Given the description of an element on the screen output the (x, y) to click on. 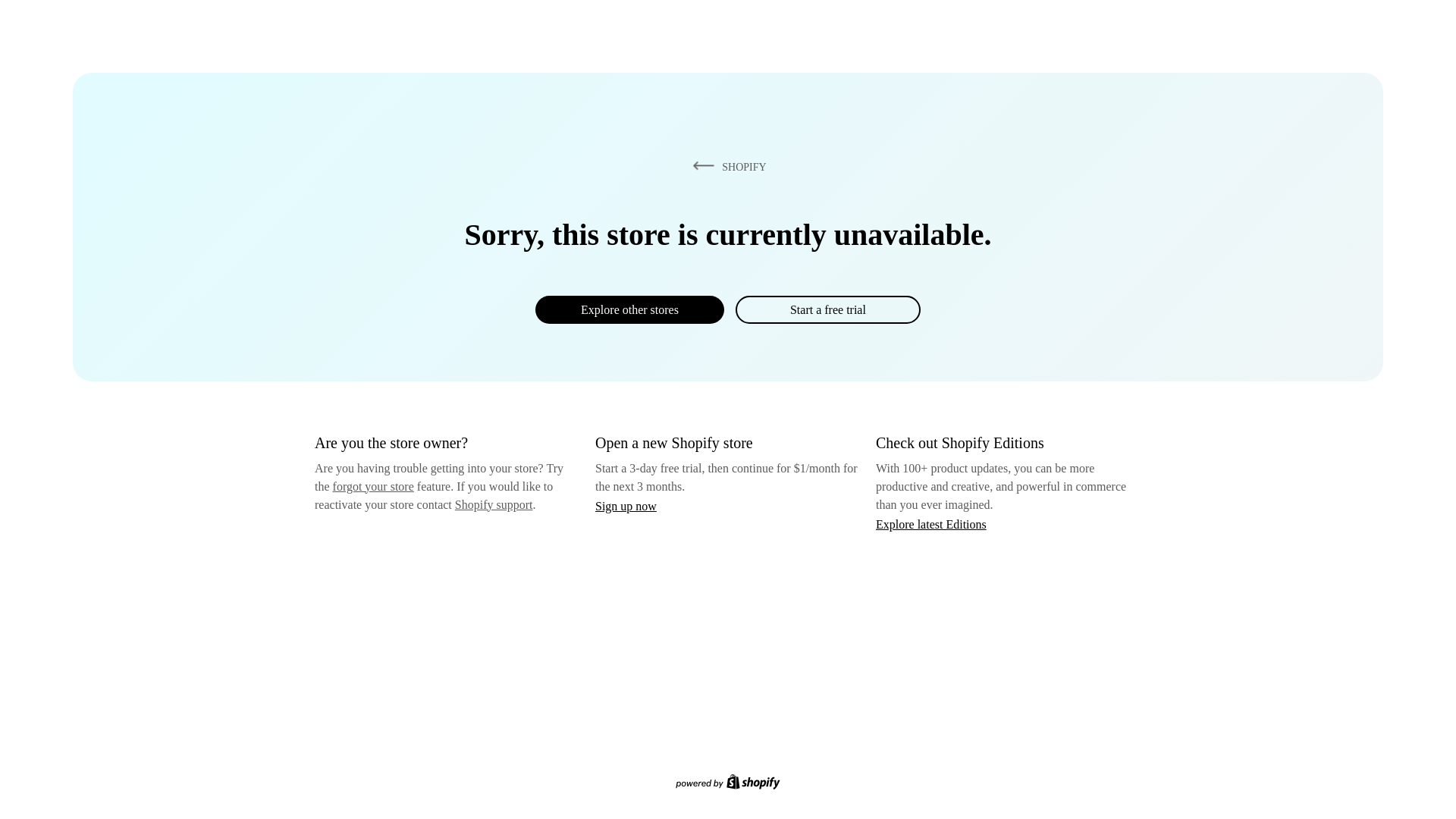
Start a free trial (827, 309)
forgot your store (373, 486)
Sign up now (625, 505)
Shopify support (493, 504)
Explore latest Editions (931, 523)
Explore other stores (629, 309)
SHOPIFY (726, 166)
